Given the description of an element on the screen output the (x, y) to click on. 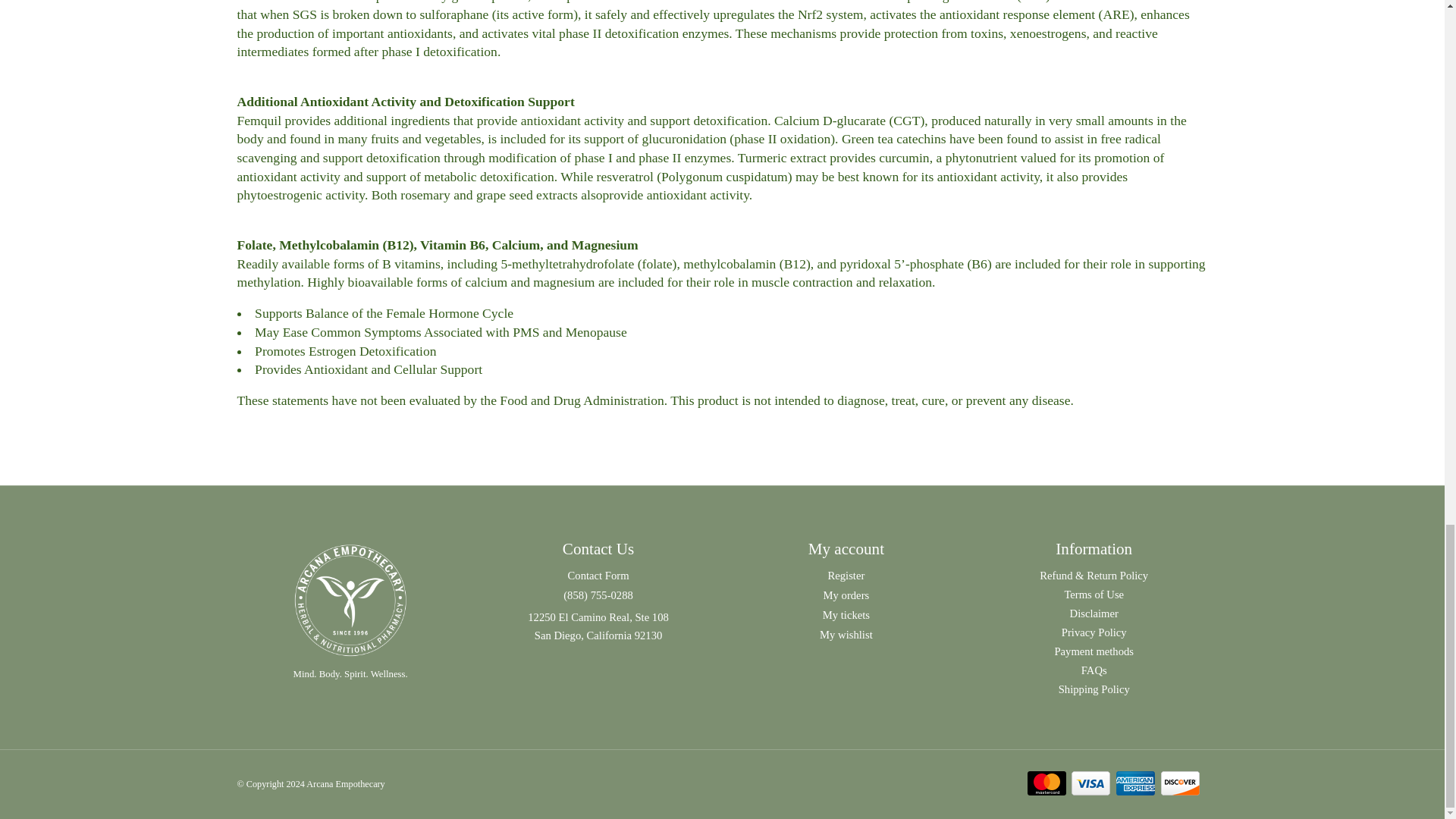
FAQs  (1093, 670)
Privacy Policy (1093, 632)
Payment methods (1094, 651)
My orders (846, 594)
My wishlist (845, 634)
Terms of Use (1094, 594)
Register (845, 575)
Disclaimer (1094, 613)
My tickets (845, 614)
